Given the description of an element on the screen output the (x, y) to click on. 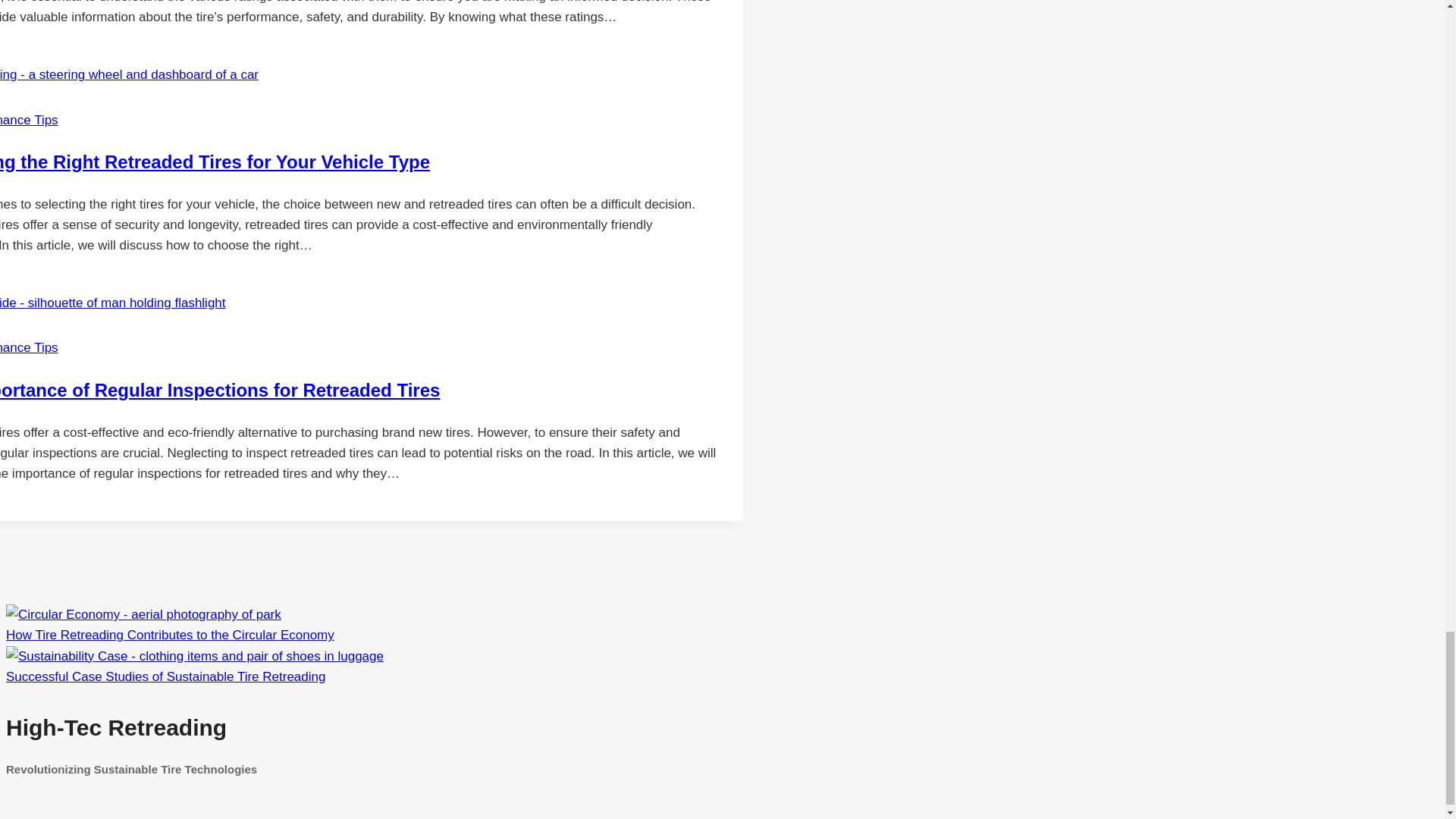
Tire Maintenance Tips (29, 347)
Choosing the Right Retreaded Tires for Your Vehicle Type (214, 161)
How Tire Retreading Contributes to the Circular Economy (143, 614)
How Tire Retreading Contributes to the Circular Economy (169, 635)
The Importance of Regular Inspections for Retreaded Tires (219, 390)
Successful Case Studies of Sustainable Tire Retreading (164, 676)
Tire Maintenance Tips (29, 120)
Successful Case Studies of Sustainable Tire Retreading (194, 656)
